Given the description of an element on the screen output the (x, y) to click on. 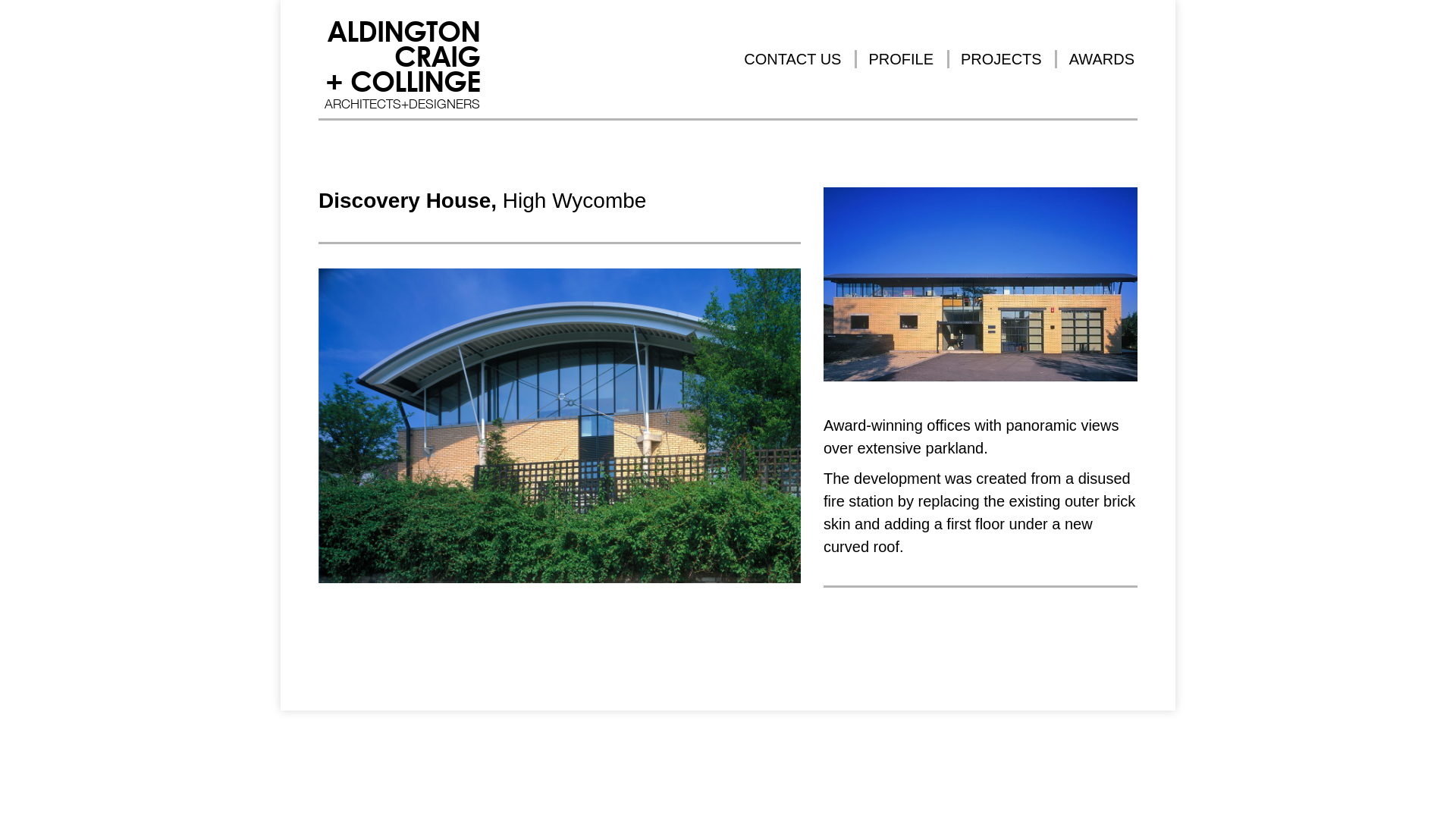
Discovery House 1 (980, 284)
CONTACT US (792, 58)
